Given the description of an element on the screen output the (x, y) to click on. 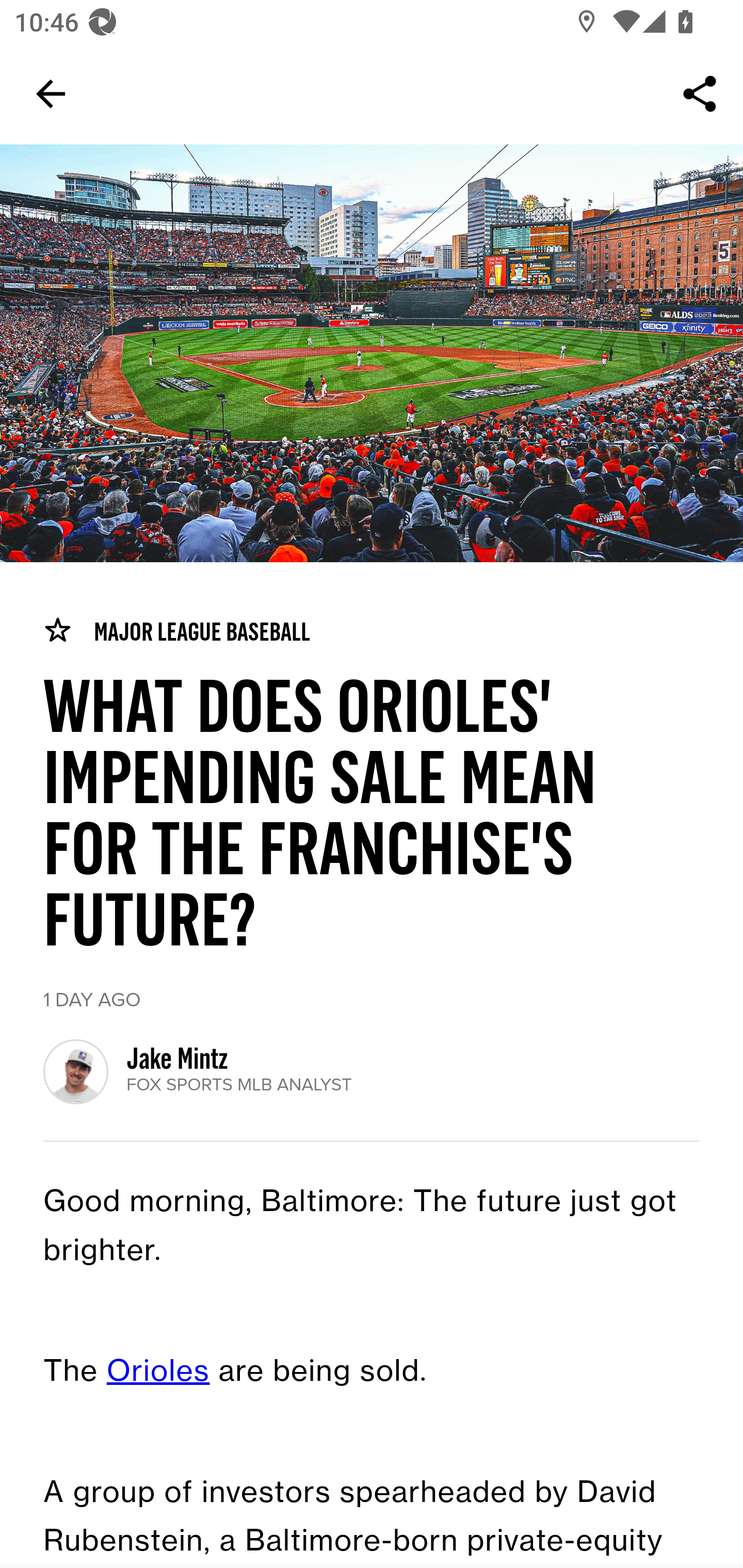
Navigate up (50, 93)
Share (699, 93)
MAJOR LEAGUE BASEBALL (176, 630)
Orioles (157, 1371)
